Given the description of an element on the screen output the (x, y) to click on. 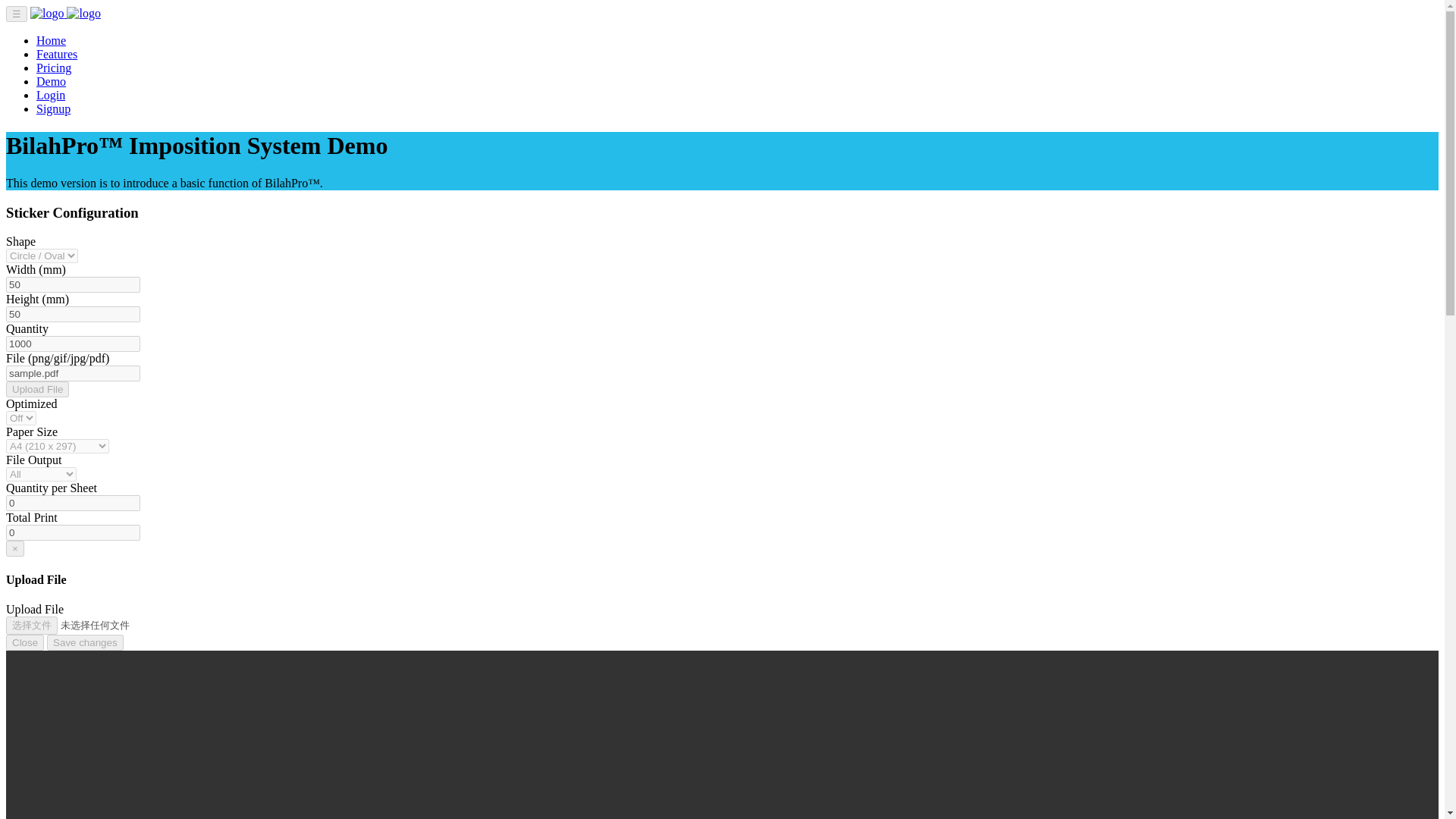
Save changes (84, 642)
Close (24, 642)
sample.pdf (72, 373)
Pricing (53, 67)
50 (72, 314)
Home (50, 40)
Signup (52, 108)
Upload File (36, 389)
Features (56, 53)
Demo (50, 81)
0 (72, 532)
50 (72, 284)
Login (50, 94)
1000 (72, 343)
0 (72, 503)
